Given the description of an element on the screen output the (x, y) to click on. 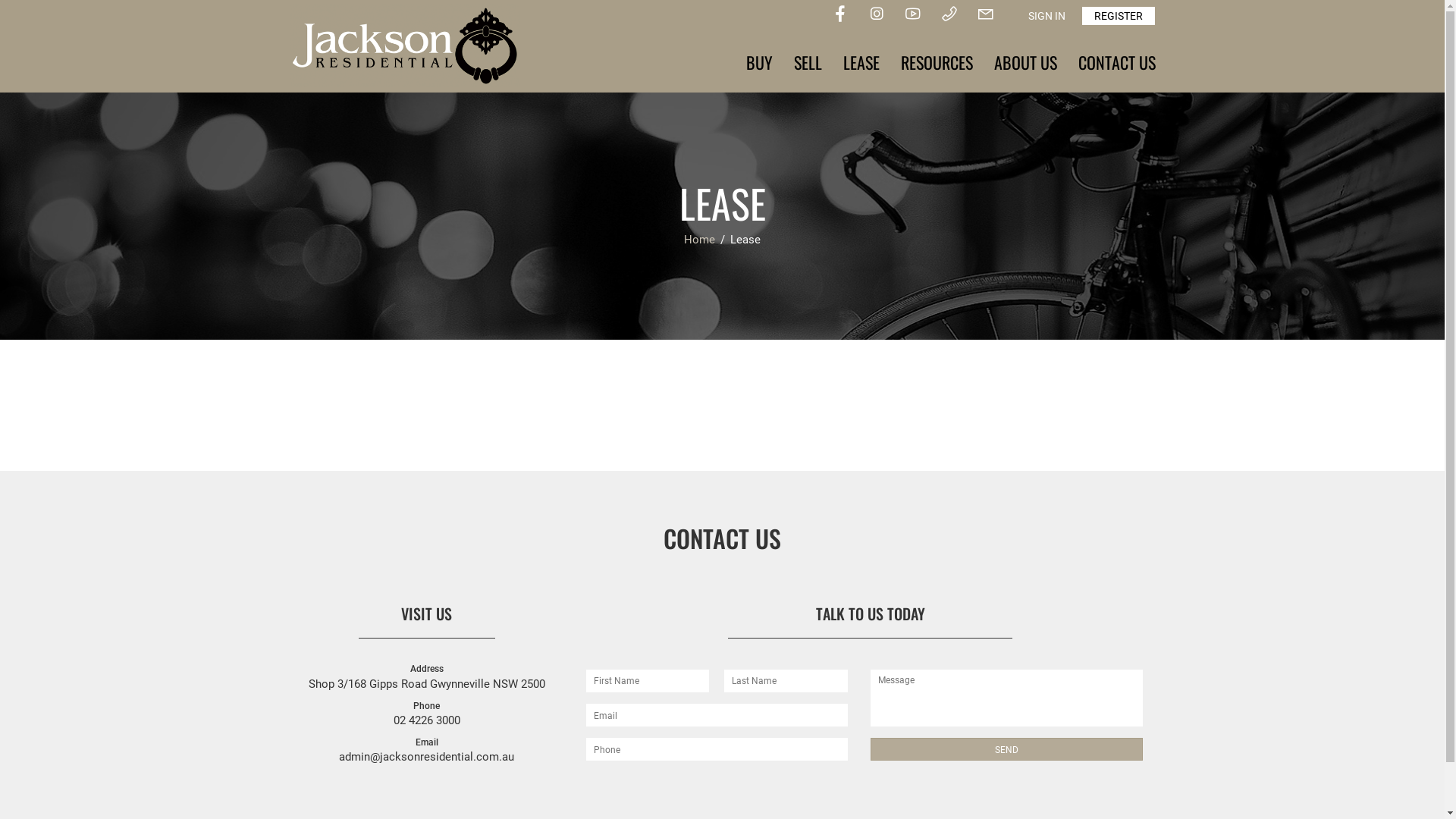
ABOUT US Element type: text (1024, 61)
CONTACT US Element type: text (1116, 61)
SIGN IN Element type: text (1046, 15)
02 4226 3000 Element type: text (425, 720)
Home Element type: text (701, 239)
BUY Element type: text (759, 61)
RESOURCES Element type: text (936, 61)
SEND Element type: text (1006, 748)
LEASE Element type: text (861, 61)
REGISTER Element type: text (1117, 15)
SELL Element type: text (806, 61)
admin@jacksonresidential.com.au Element type: text (426, 756)
